Given the description of an element on the screen output the (x, y) to click on. 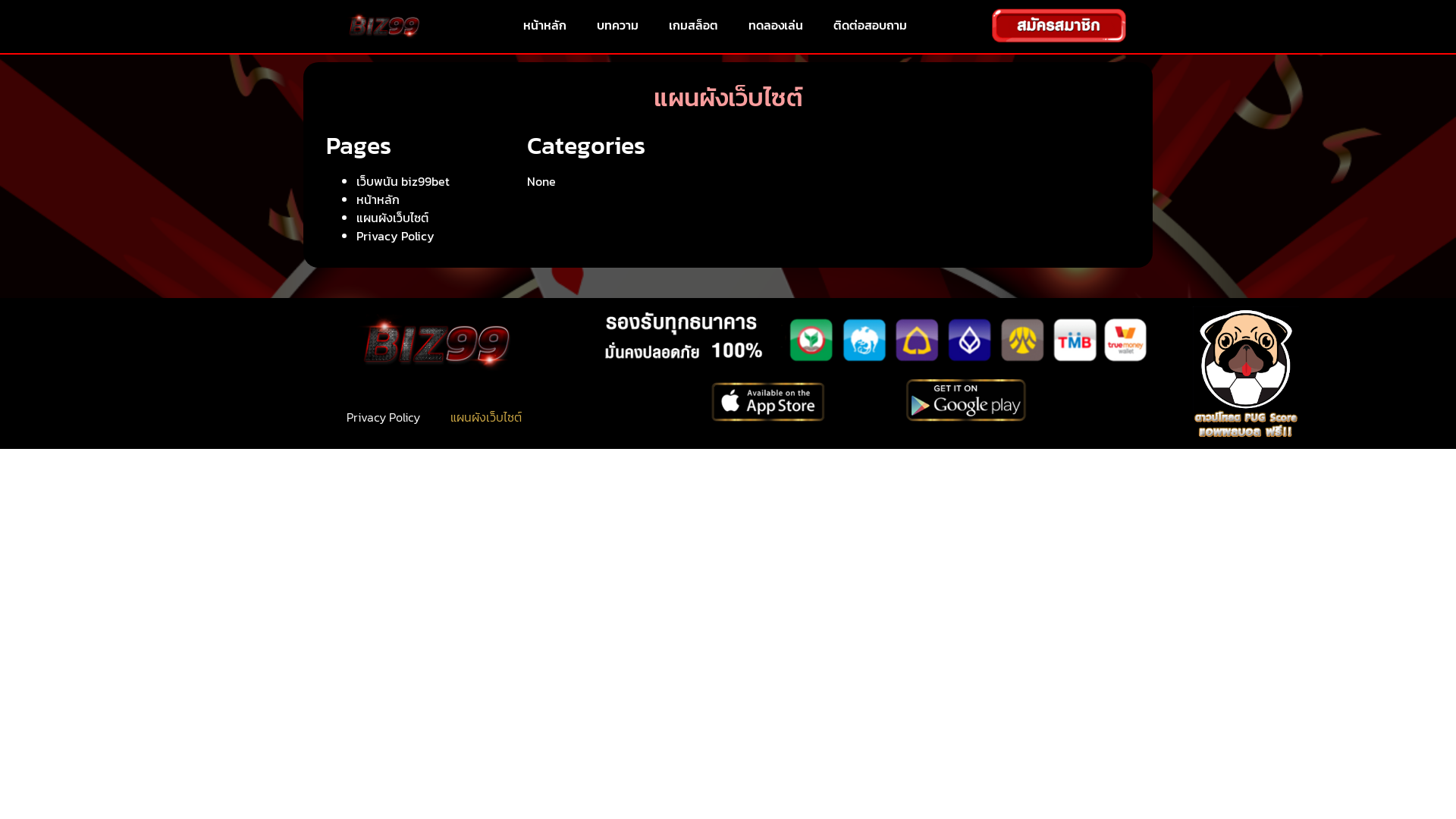
Privacy Policy Element type: text (395, 235)
Privacy Policy Element type: text (383, 416)
